Given the description of an element on the screen output the (x, y) to click on. 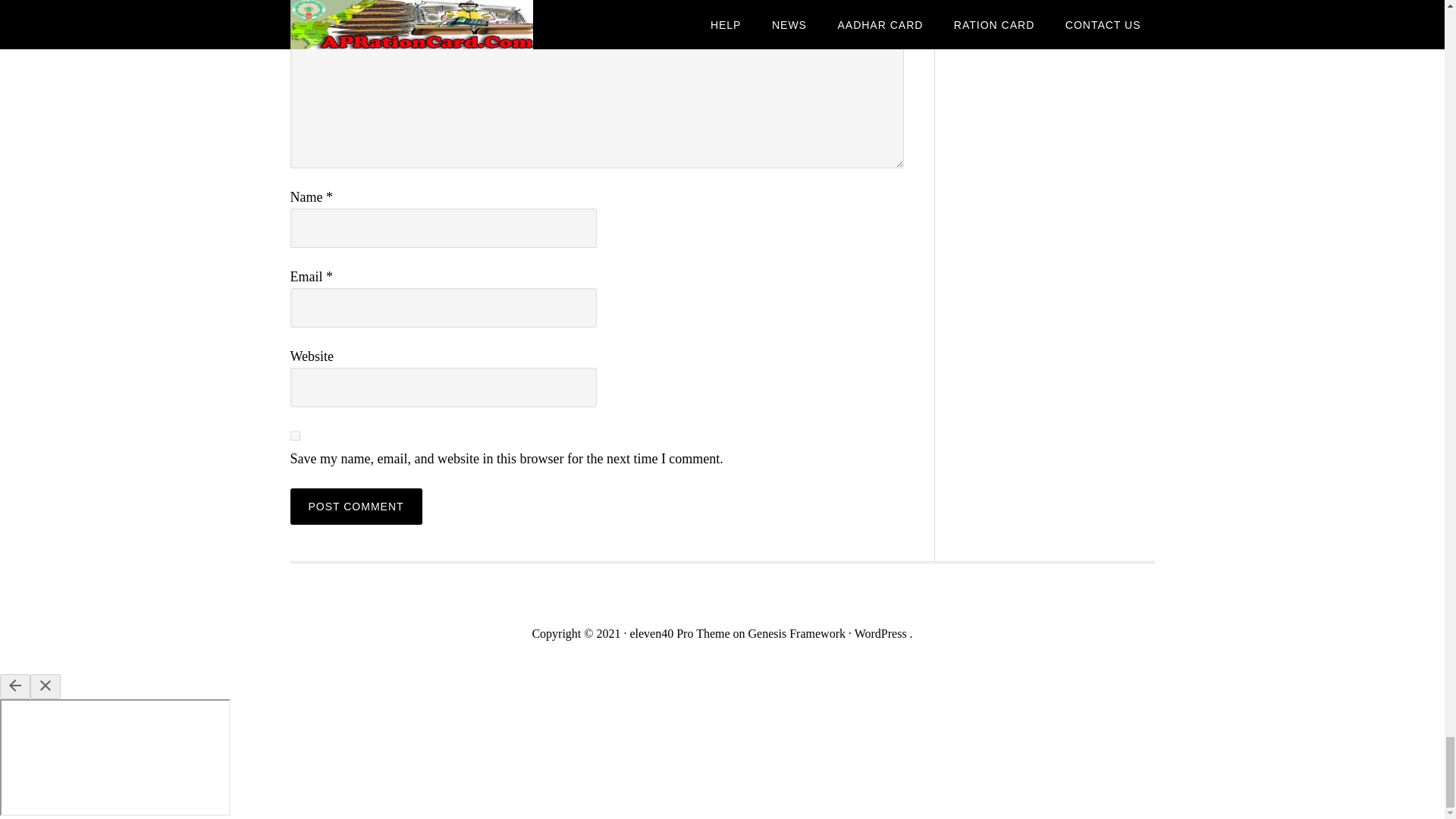
yes (294, 435)
Post Comment (355, 506)
